Given the description of an element on the screen output the (x, y) to click on. 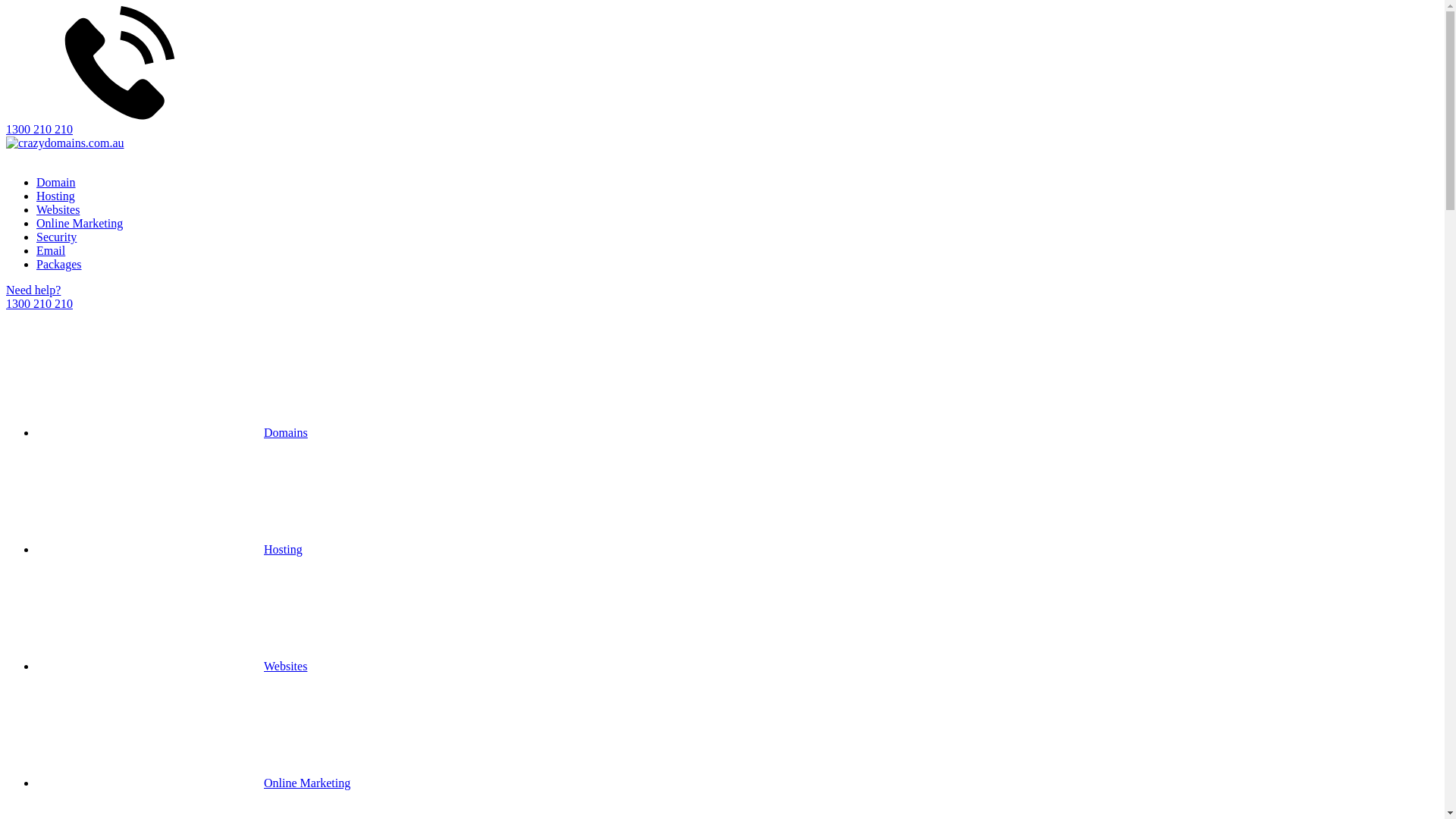
Hosting Element type: text (169, 548)
Security Element type: text (56, 236)
Email Element type: text (50, 250)
Online Marketing Element type: text (193, 782)
Packages Element type: text (58, 263)
Websites Element type: text (171, 665)
Hosting Element type: text (55, 195)
Domains Element type: text (171, 432)
Online Marketing Element type: text (79, 222)
Need help?
1300 210 210 Element type: text (722, 296)
1300 210 210 Element type: text (722, 70)
Websites Element type: text (57, 209)
Domain Element type: text (55, 181)
